Given the description of an element on the screen output the (x, y) to click on. 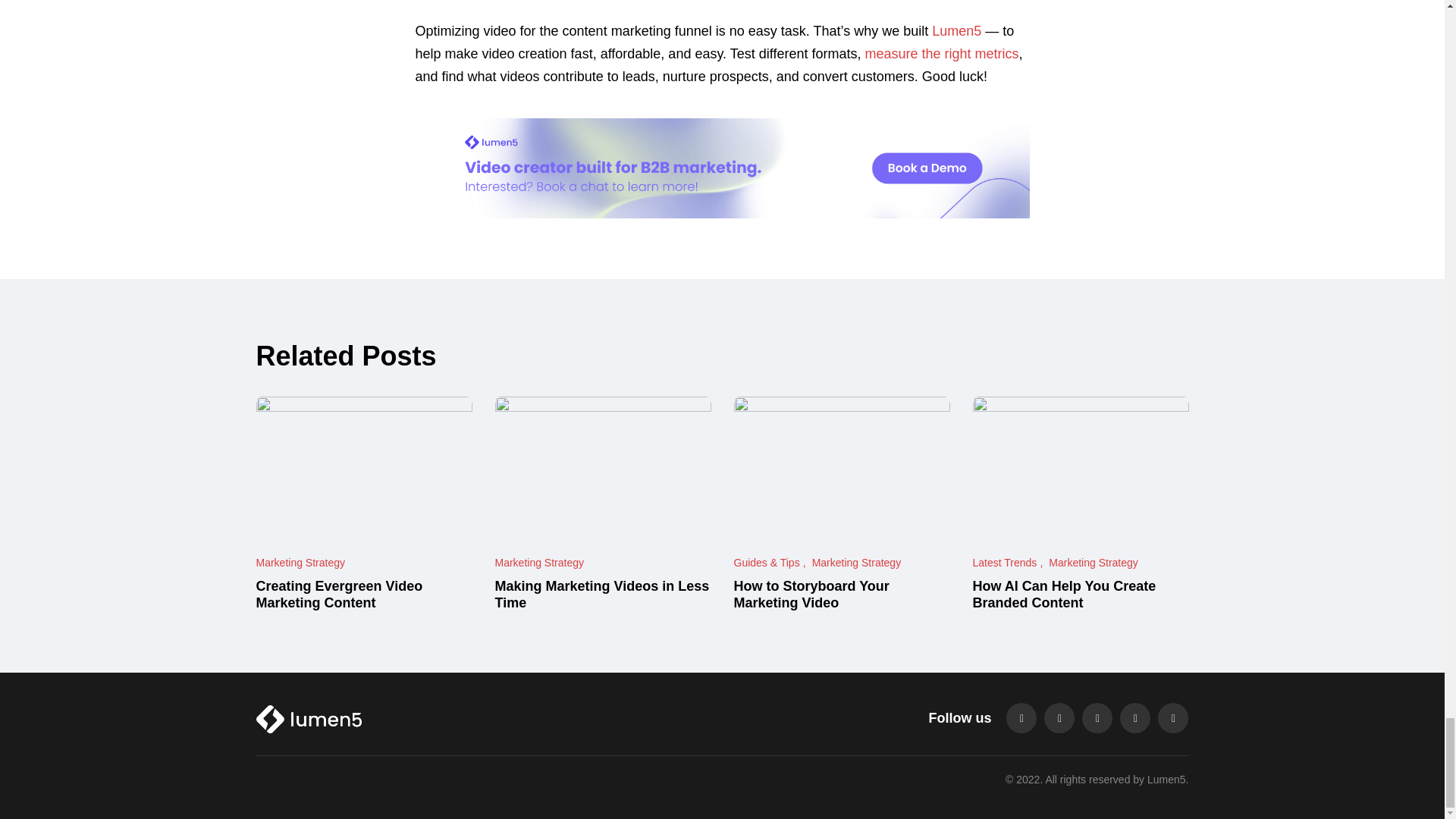
Instagram (1134, 717)
Linkedin-in (1096, 717)
Youtube (1172, 717)
Twitter (1058, 717)
Lumen5 Learning Center (403, 717)
Facebook-f (1021, 717)
